Given the description of an element on the screen output the (x, y) to click on. 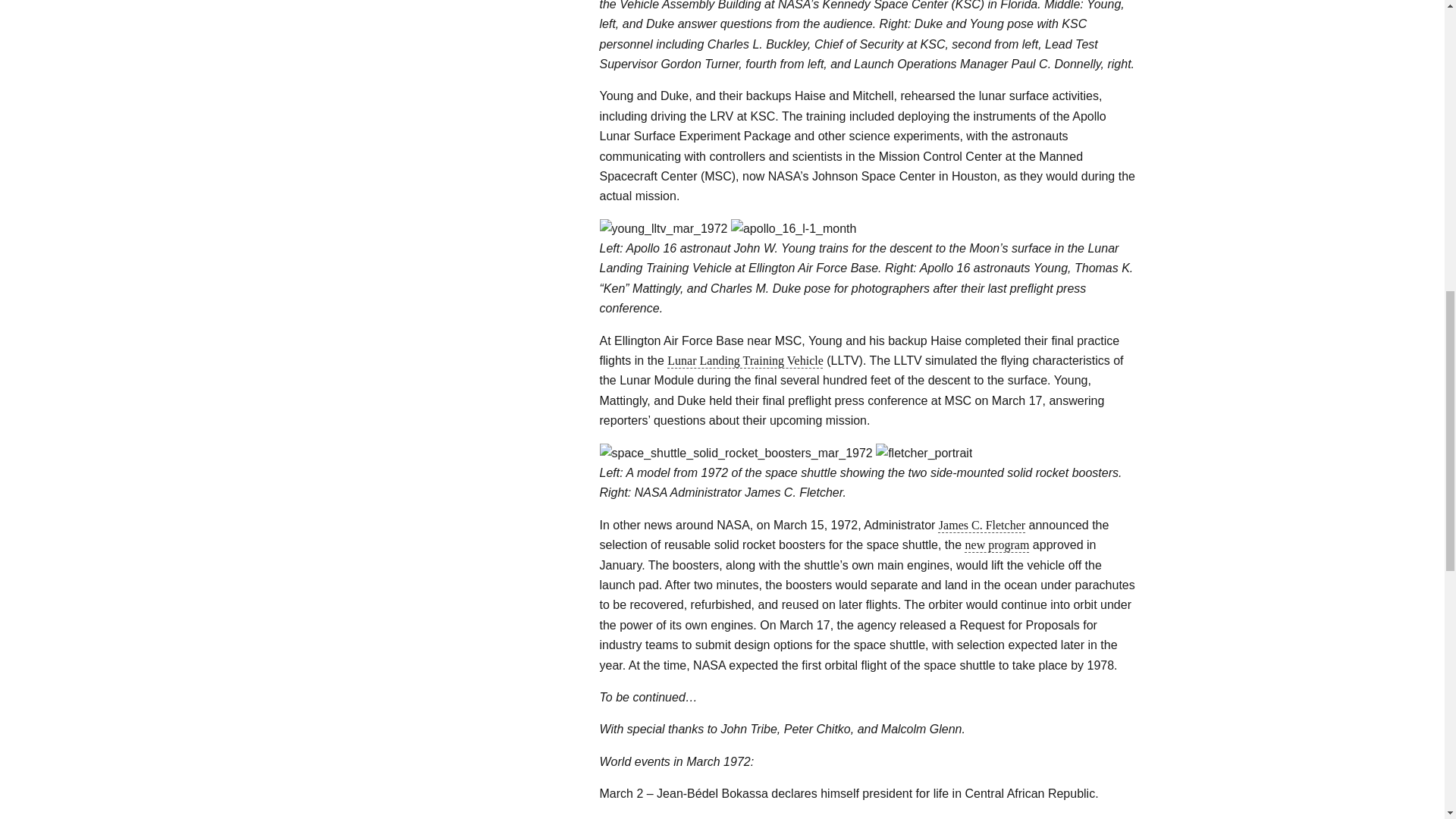
Lunar Landing Training Vehicle (744, 359)
James C. Fletcher (982, 524)
new program (997, 544)
